Given the description of an element on the screen output the (x, y) to click on. 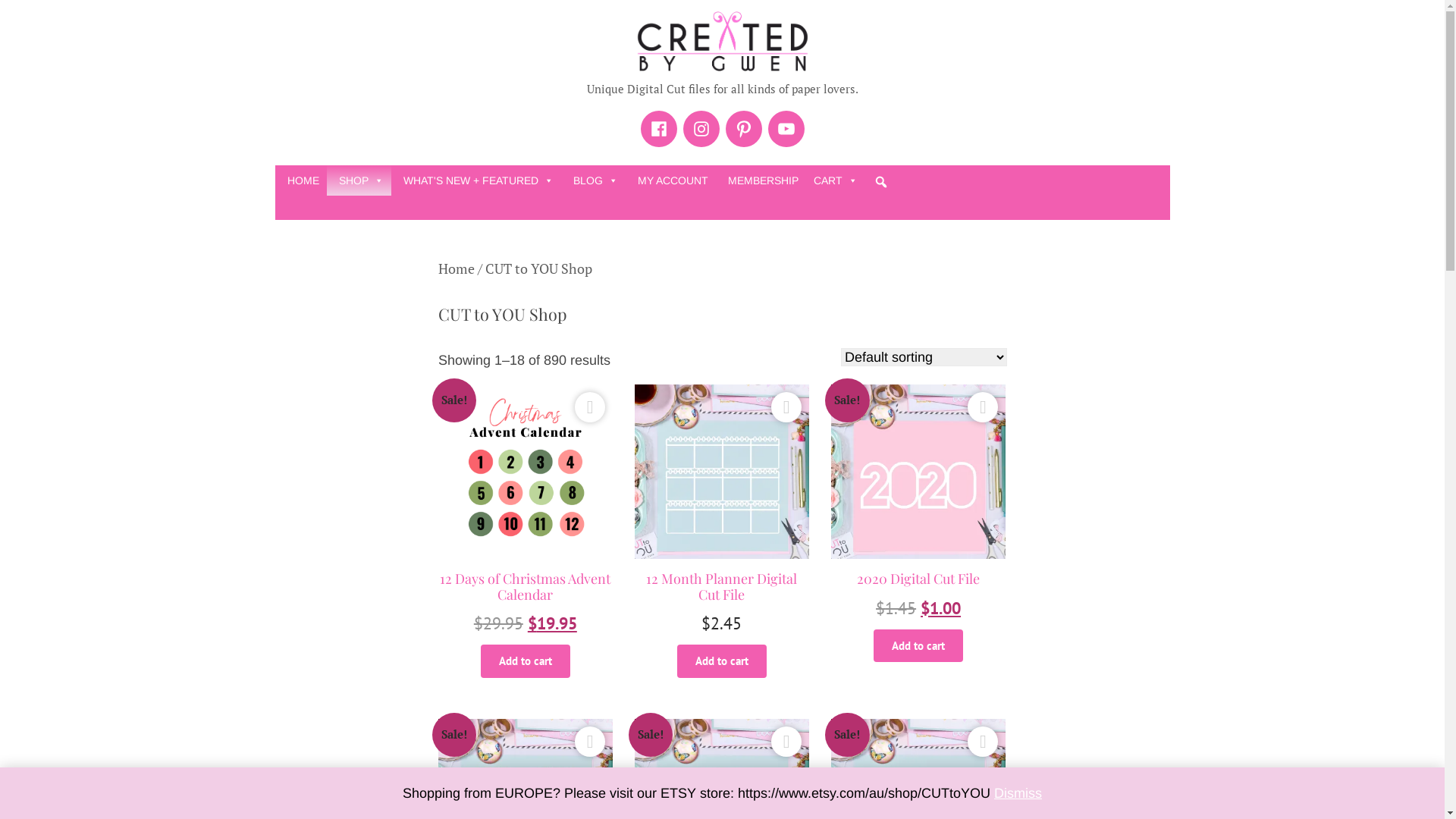
MEMBERSHIP Element type: text (760, 180)
Search Element type: text (972, 250)
Dismiss Element type: text (1017, 792)
SHOP Element type: text (358, 180)
12 Month Planner Digital Cut File
$2.45 Element type: text (721, 526)
Search Element type: text (18, 17)
Add to cart Element type: text (918, 645)
CART Element type: text (837, 180)
WHAT'S NEW + FEATURED Element type: text (476, 180)
Add to wishlist Element type: hover (982, 407)
BLOG Element type: text (593, 180)
Home Element type: text (456, 268)
HOME Element type: text (300, 180)
YouTube Element type: text (785, 128)
My Facebook Profile Element type: text (658, 128)
Sale!
2020 Digital Cut File
$1.45 $1.00 Element type: text (918, 518)
Add to wishlist Element type: hover (982, 741)
Add to wishlist Element type: hover (589, 407)
Add to cart Element type: text (721, 660)
MY ACCOUNT Element type: text (669, 180)
Add to wishlist Element type: hover (589, 741)
Sale!
12 Days of Christmas Advent Calendar
$29.95 $19.95 Element type: text (525, 526)
Add to wishlist Element type: hover (786, 741)
My Instagram Profile Element type: text (700, 128)
My CUT to YOU Pinterest Element type: text (742, 128)
Add to wishlist Element type: hover (786, 407)
Add to cart Element type: text (525, 660)
